Given the description of an element on the screen output the (x, y) to click on. 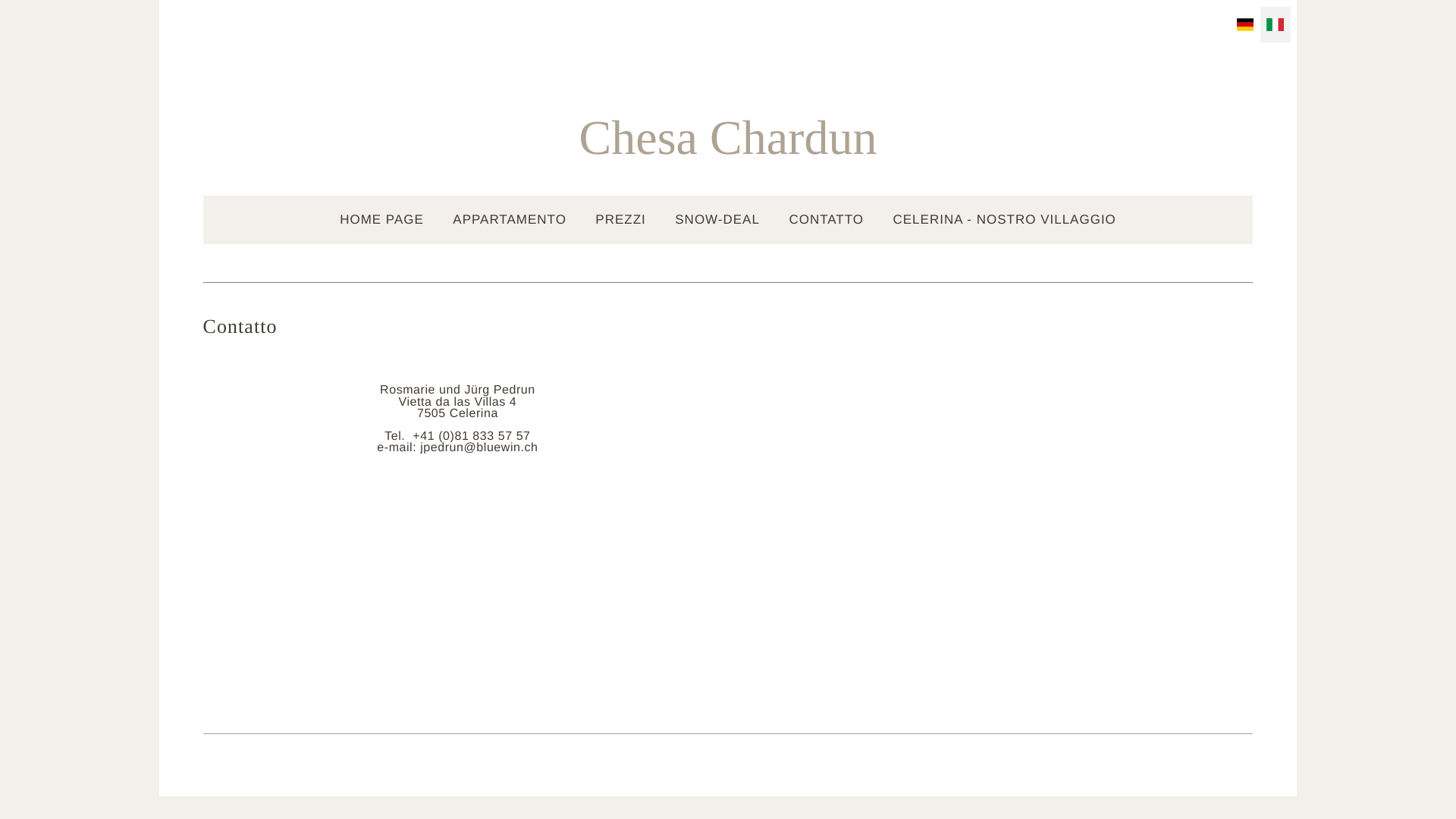
APPARTAMENTO Element type: text (509, 219)
DEUTSCH Element type: text (1245, 23)
CONTATTO Element type: text (825, 219)
Chesa Chardun Element type: text (728, 140)
PREZZI Element type: text (620, 219)
ITALIANO Element type: text (1275, 23)
SNOW-DEAL Element type: text (717, 219)
CELERINA - NOSTRO VILLAGGIO Element type: text (1003, 219)
HOME PAGE Element type: text (381, 219)
